Given the description of an element on the screen output the (x, y) to click on. 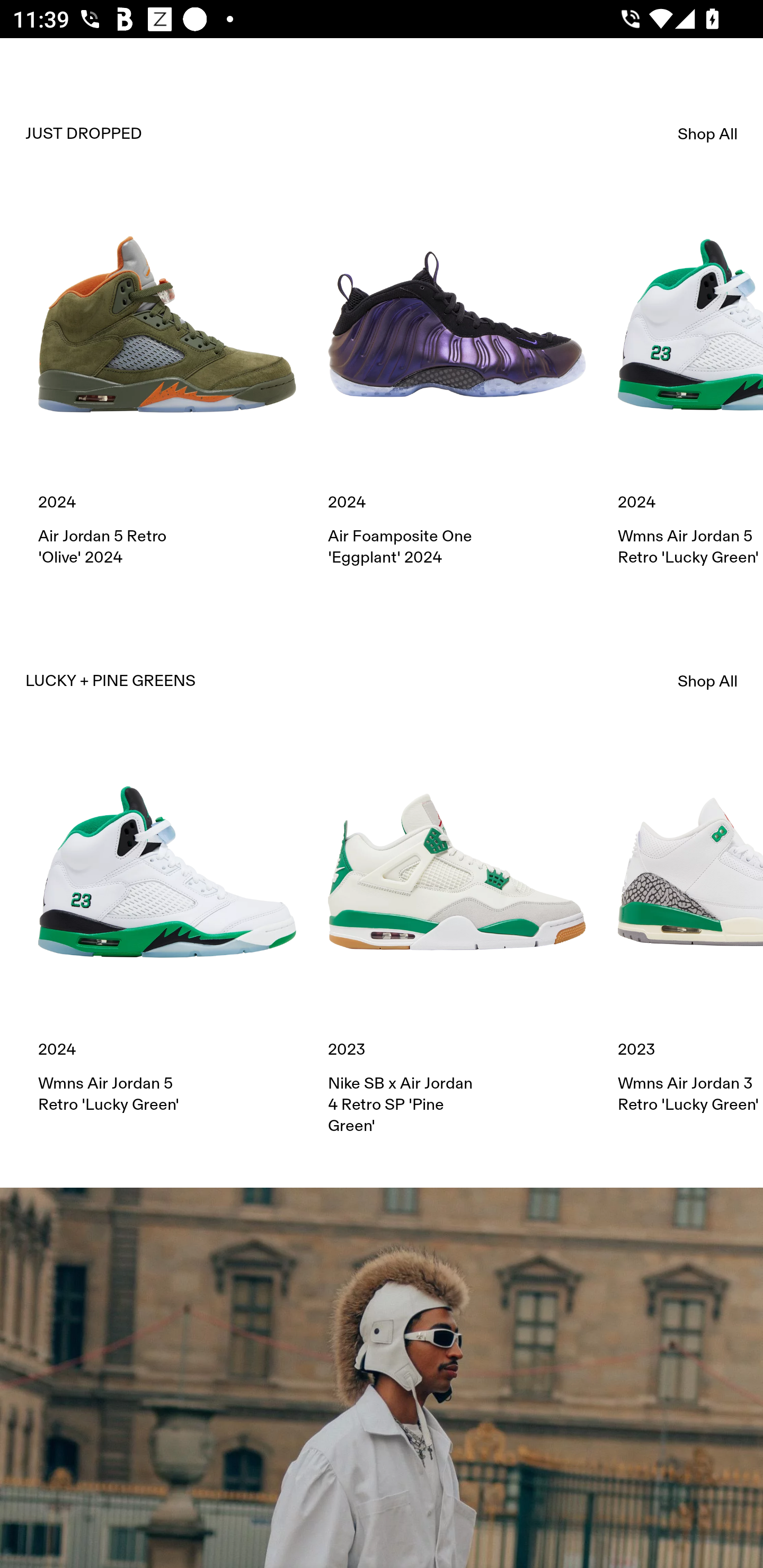
Shop All (707, 133)
2024 Air Jordan 5 Retro 'Olive' 2024 (167, 381)
2024 Air Foamposite One 'Eggplant' 2024 (456, 381)
2024 Wmns Air Jordan 5 Retro 'Lucky Green' (690, 381)
Shop All (707, 680)
2024 Wmns Air Jordan 5 Retro 'Lucky Green' (167, 928)
2023 Nike SB x Air Jordan 4 Retro SP 'Pine Green' (456, 939)
2023 Wmns Air Jordan 3 Retro 'Lucky Green' (690, 928)
